Given the description of an element on the screen output the (x, y) to click on. 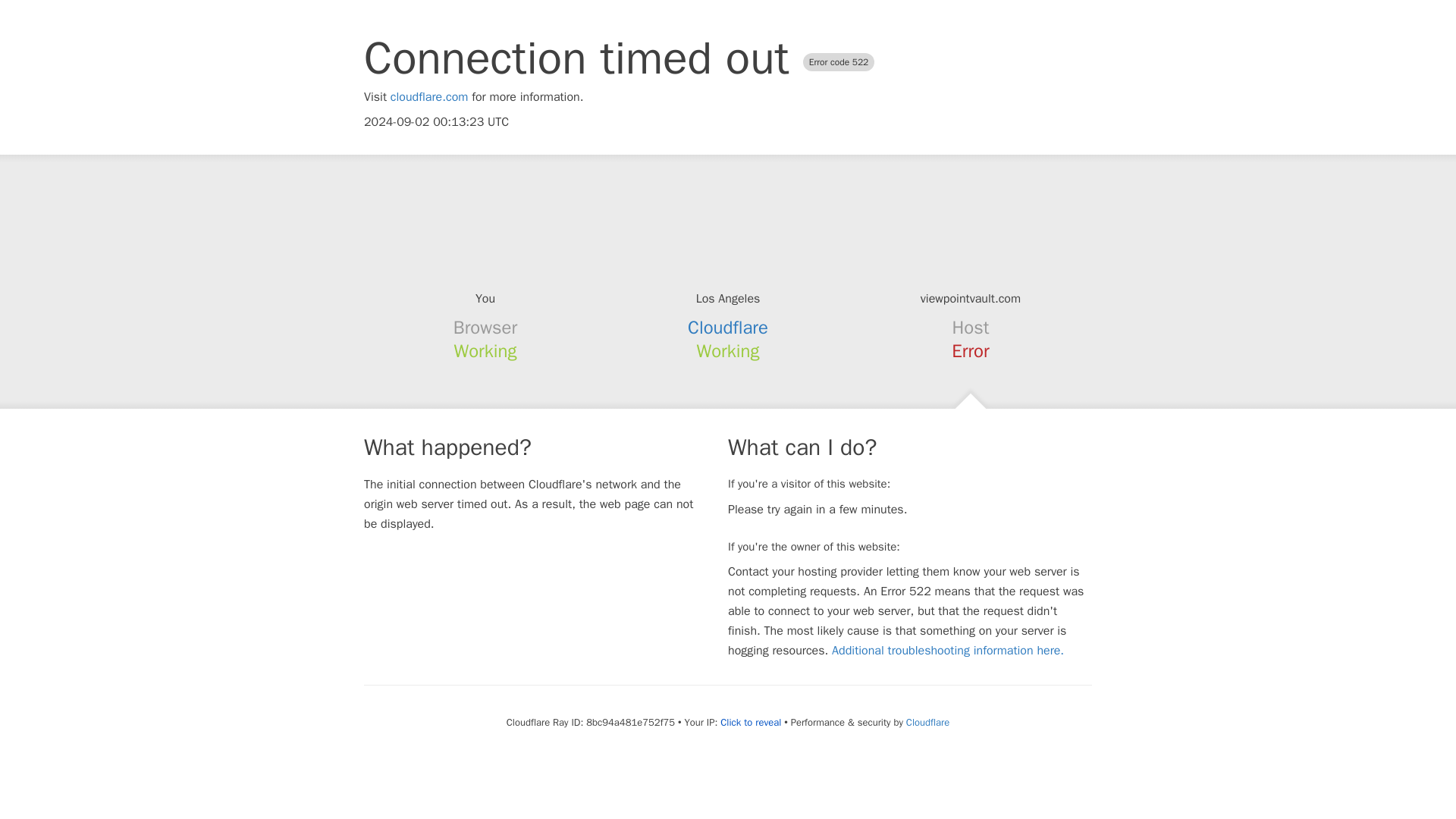
Click to reveal (750, 722)
cloudflare.com (429, 96)
Cloudflare (727, 327)
Additional troubleshooting information here. (947, 650)
Cloudflare (927, 721)
